Given the description of an element on the screen output the (x, y) to click on. 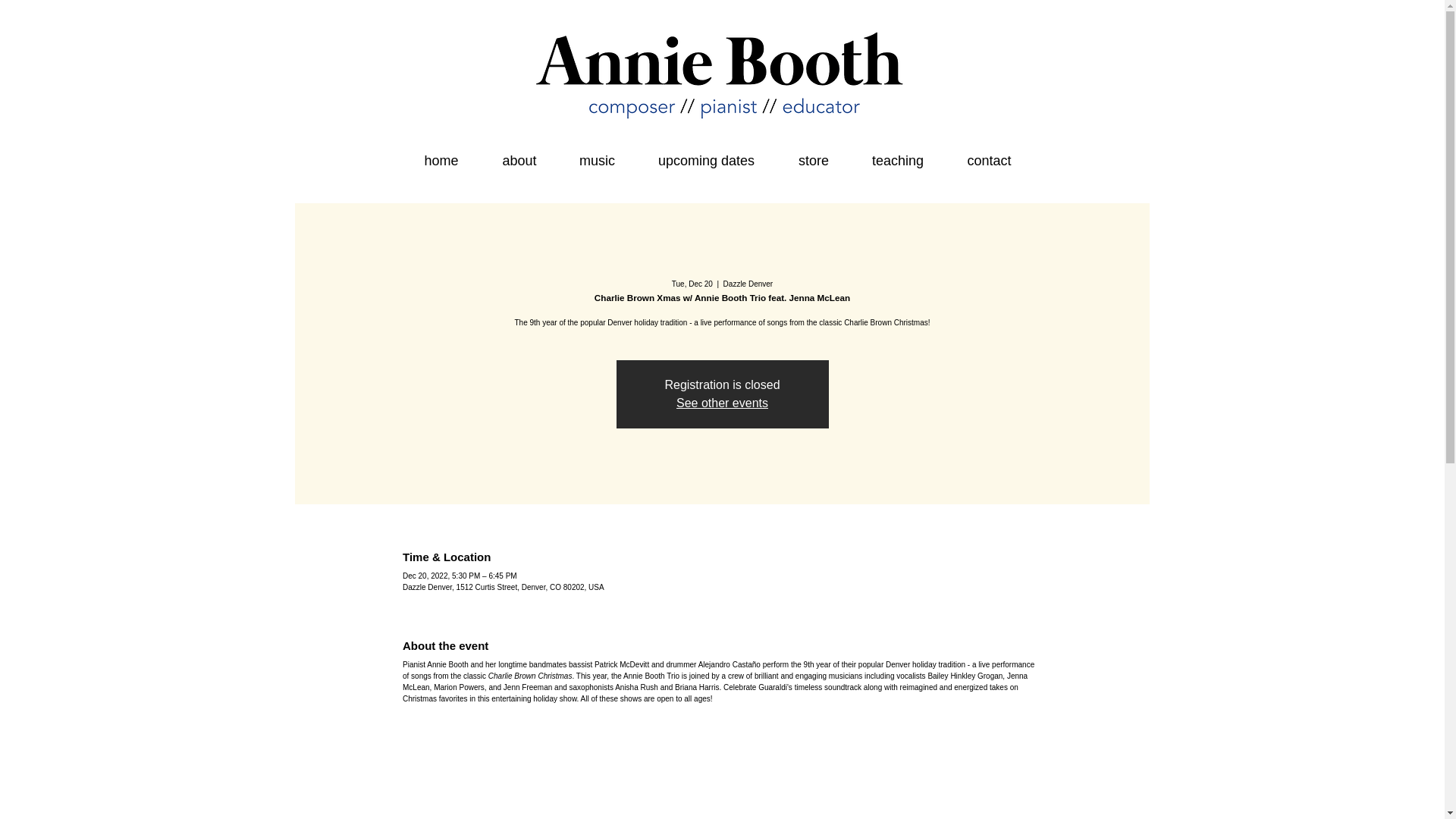
store (813, 160)
contact (988, 160)
See other events (722, 402)
teaching (897, 160)
upcoming dates (705, 160)
about (519, 160)
home (440, 160)
